Given the description of an element on the screen output the (x, y) to click on. 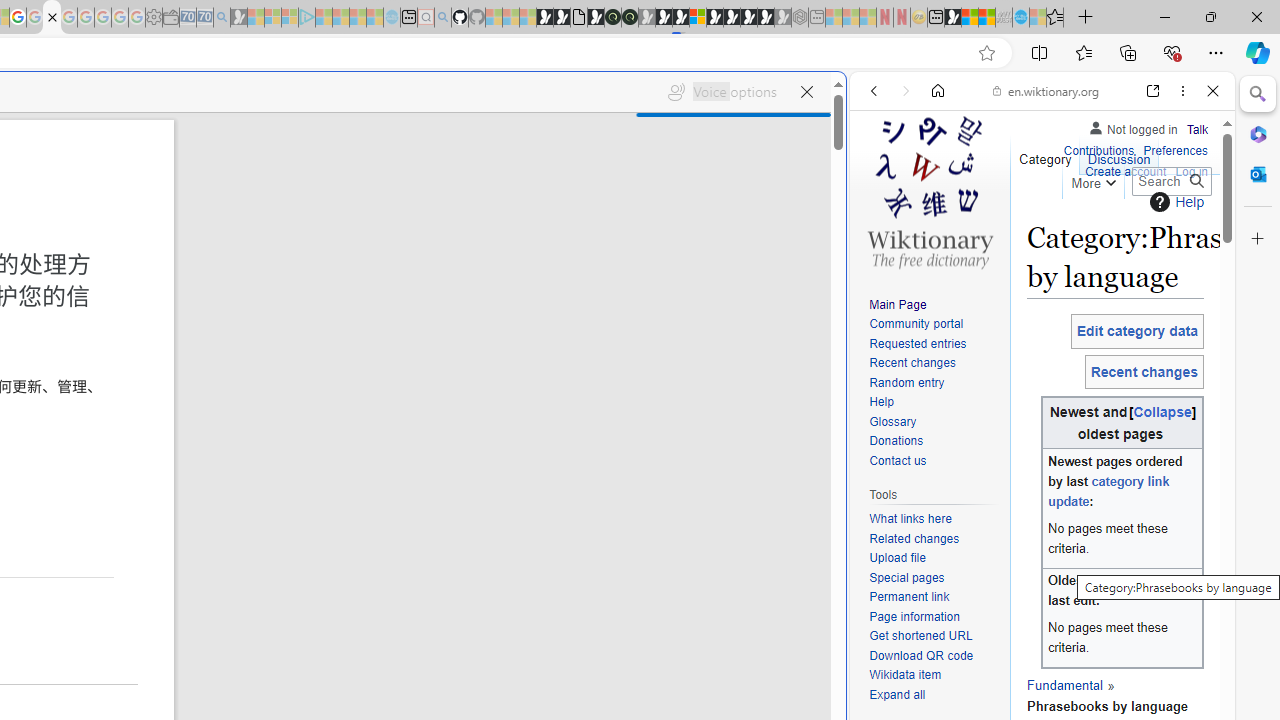
Sign in to your account (697, 17)
Phrasebooks by language (1107, 695)
Random entry (906, 382)
Contact us (934, 461)
Donations (896, 441)
Fundamental (1064, 684)
